Given the description of an element on the screen output the (x, y) to click on. 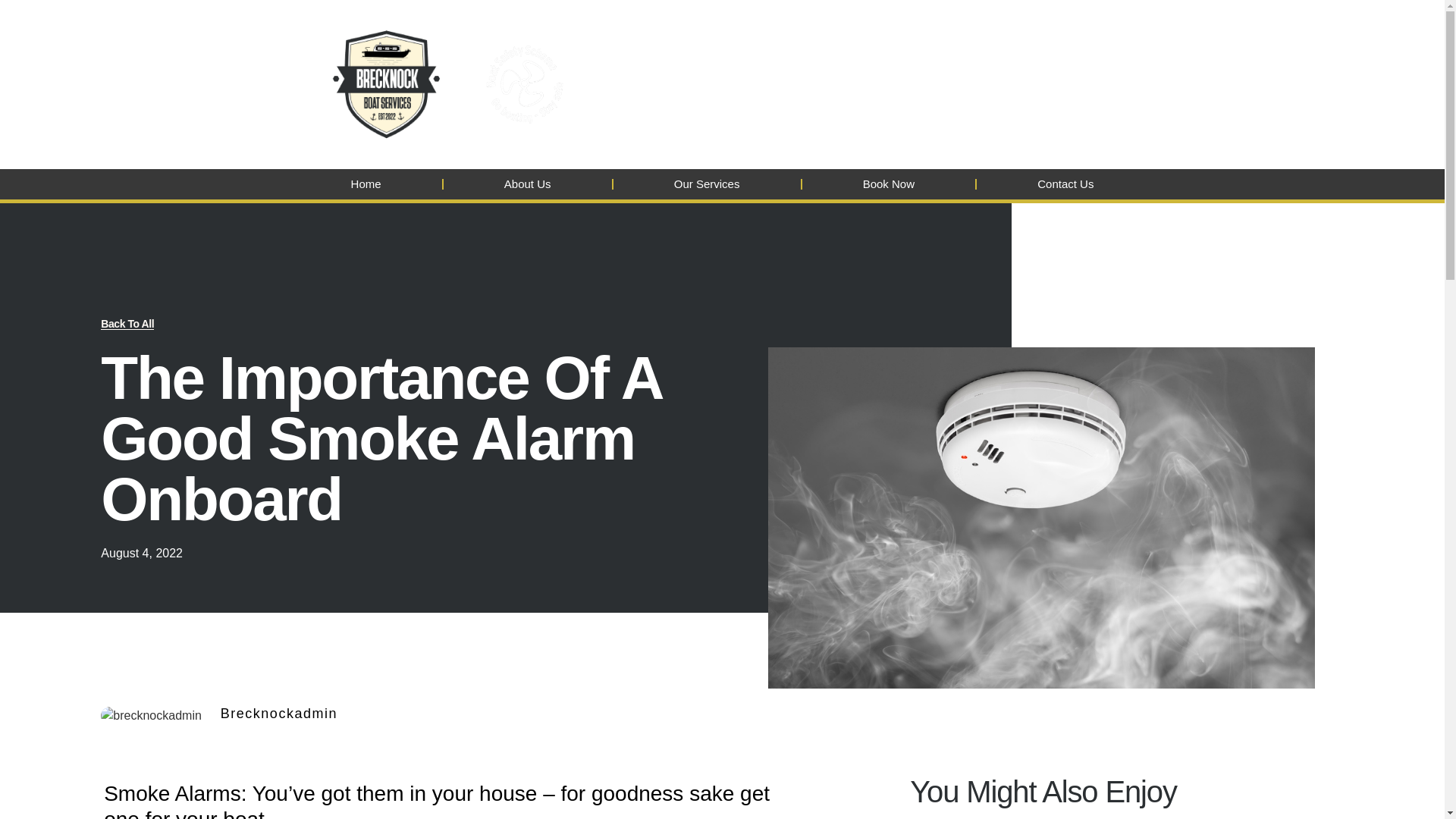
Book Now (888, 183)
Home (365, 183)
About Us (527, 183)
Back To All (127, 324)
Contact Us (1065, 183)
Our Services (706, 183)
